Given the description of an element on the screen output the (x, y) to click on. 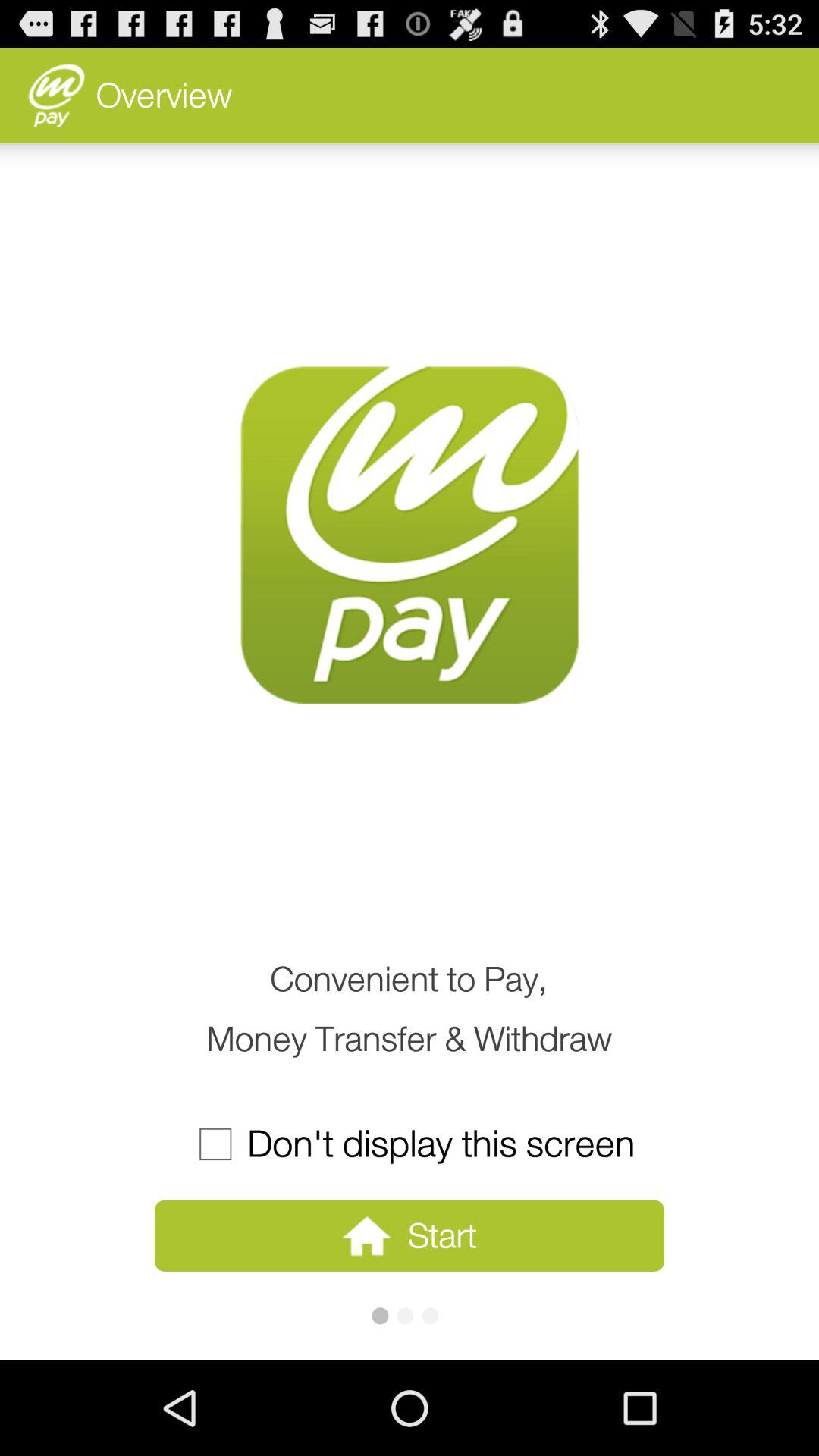
scroll until the don t display icon (408, 1144)
